Given the description of an element on the screen output the (x, y) to click on. 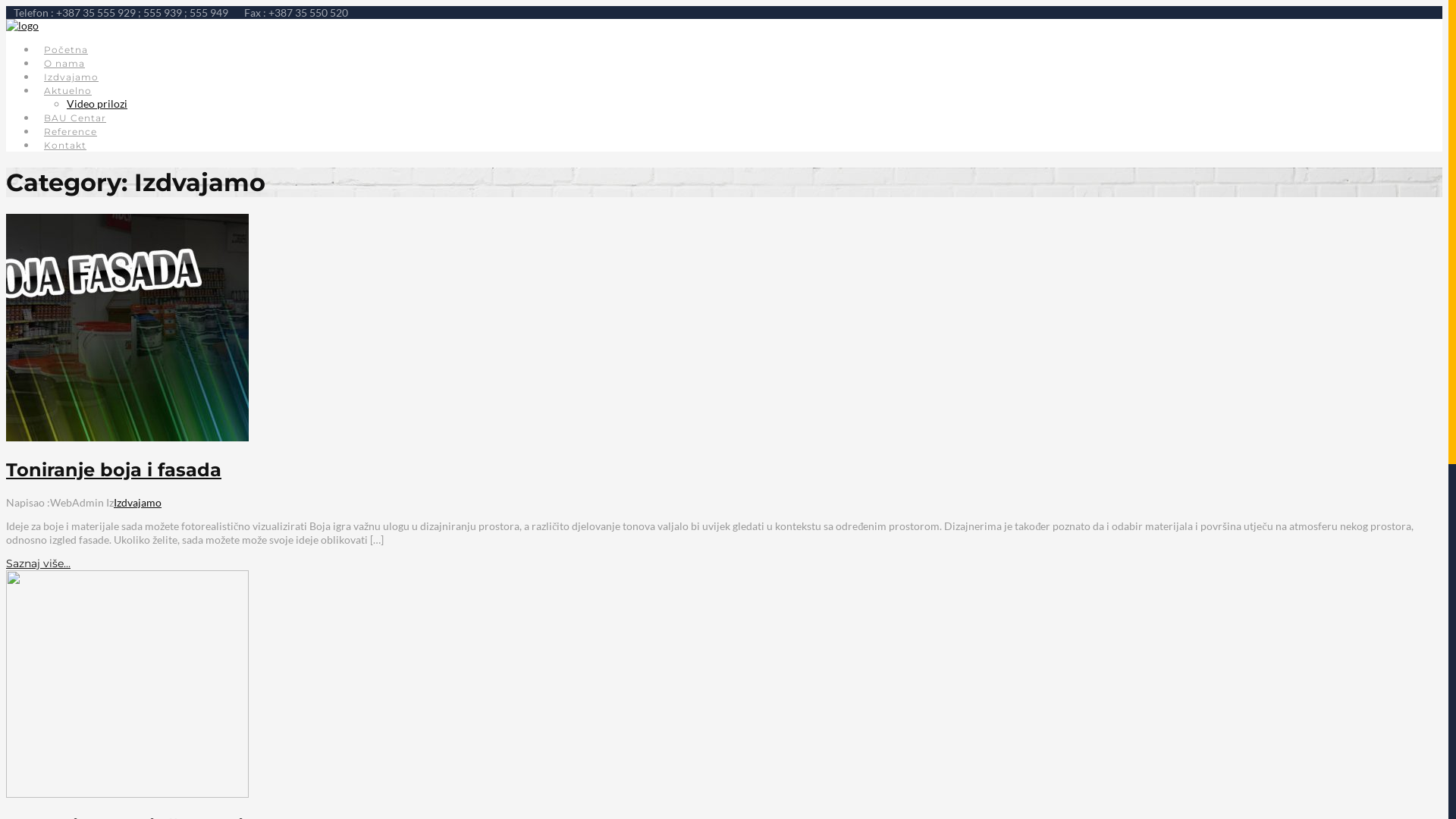
Izdvajamo Element type: text (71, 76)
Izdvajamo Element type: text (137, 501)
Reference Element type: text (70, 131)
Toniranje boja i fasada Element type: text (113, 469)
Video prilozi Element type: text (96, 103)
Kontakt Element type: text (65, 144)
Aktuelno Element type: text (67, 90)
O nama Element type: text (64, 63)
BAU Centar Element type: text (74, 117)
